Given the description of an element on the screen output the (x, y) to click on. 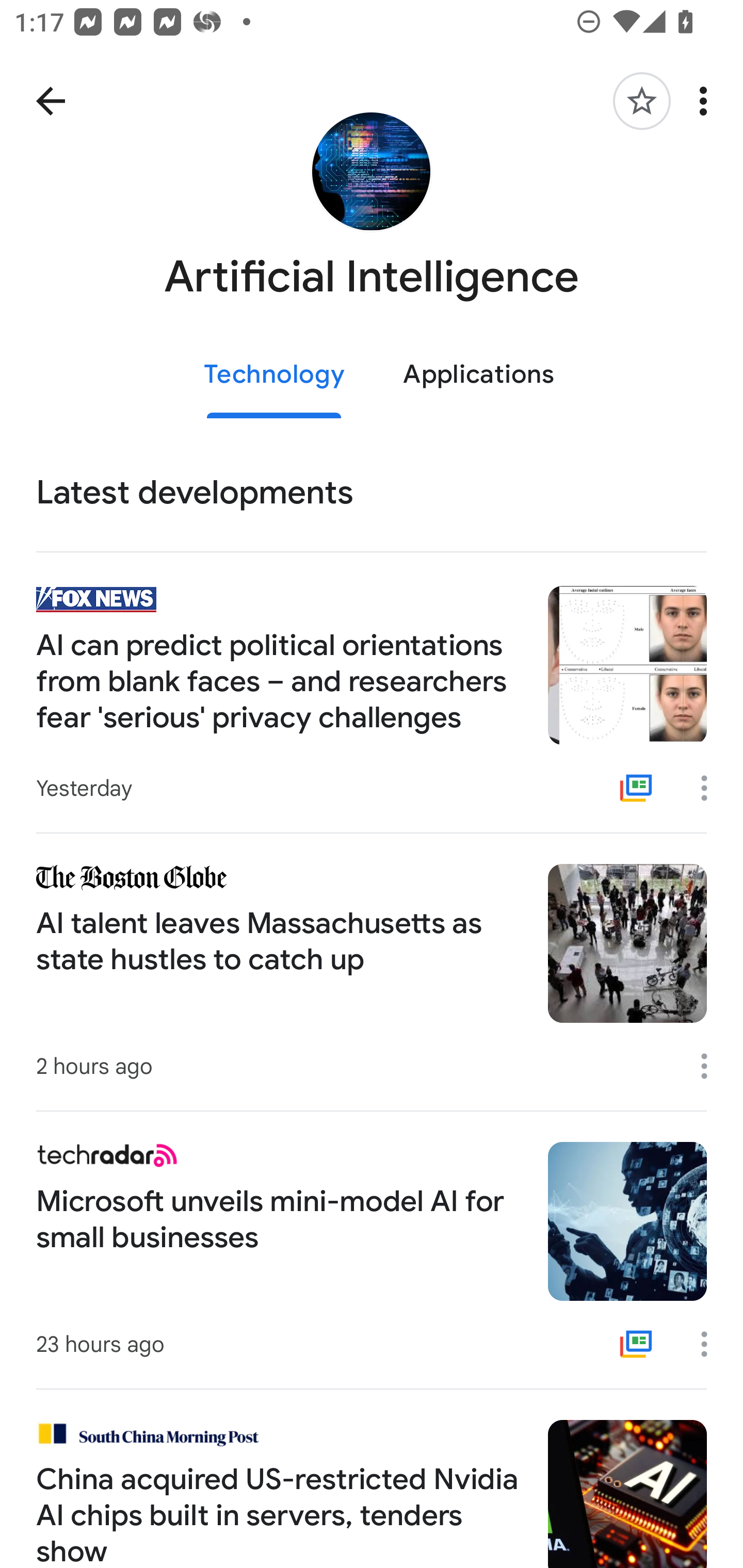
Navigate up (50, 101)
More options (706, 101)
Applications (478, 375)
Latest developments (371, 492)
More options (711, 787)
More options (711, 1066)
More options (711, 1344)
